Given the description of an element on the screen output the (x, y) to click on. 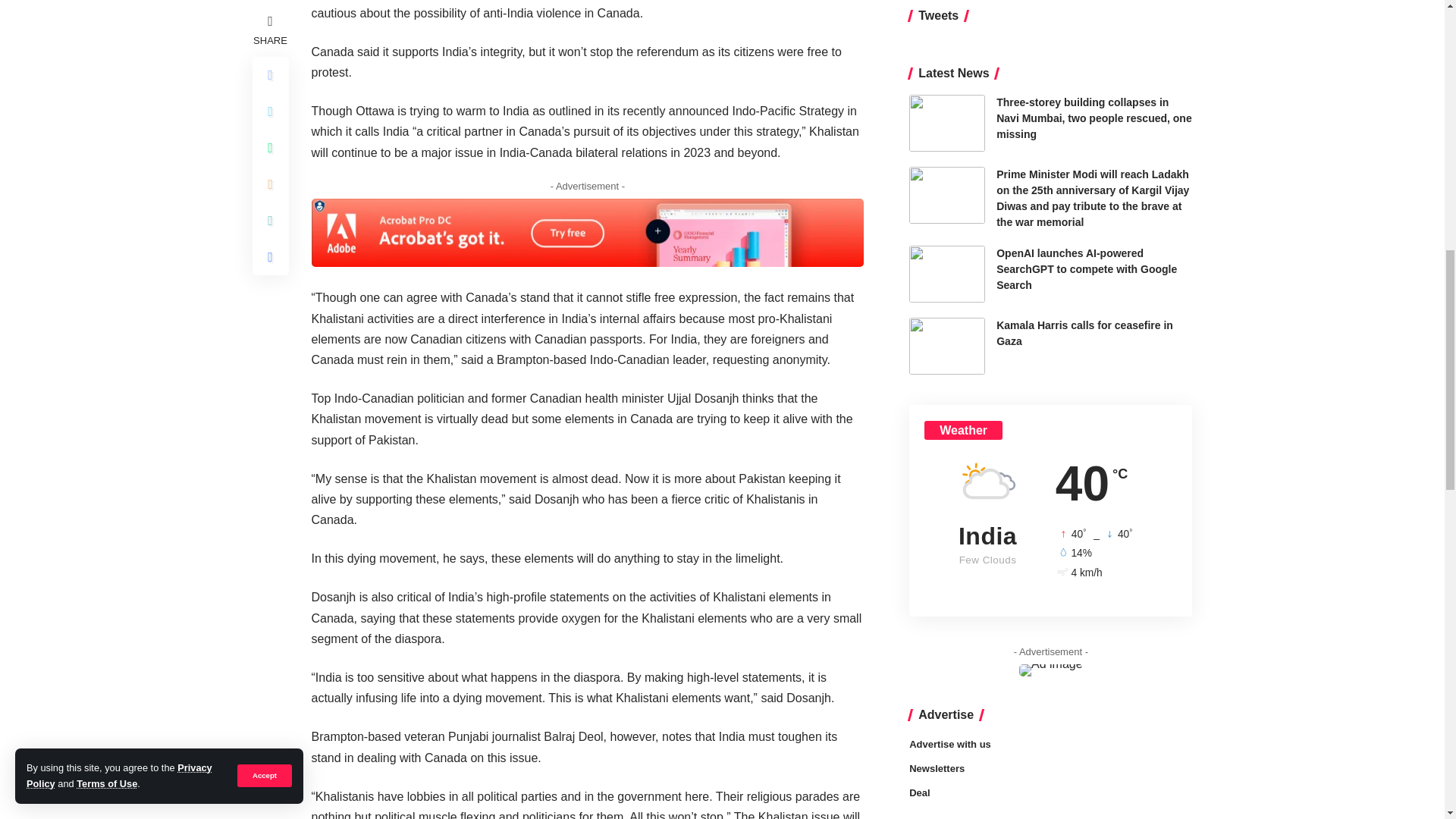
Kamala Harris calls for ceasefire in Gaza (946, 196)
